Given the description of an element on the screen output the (x, y) to click on. 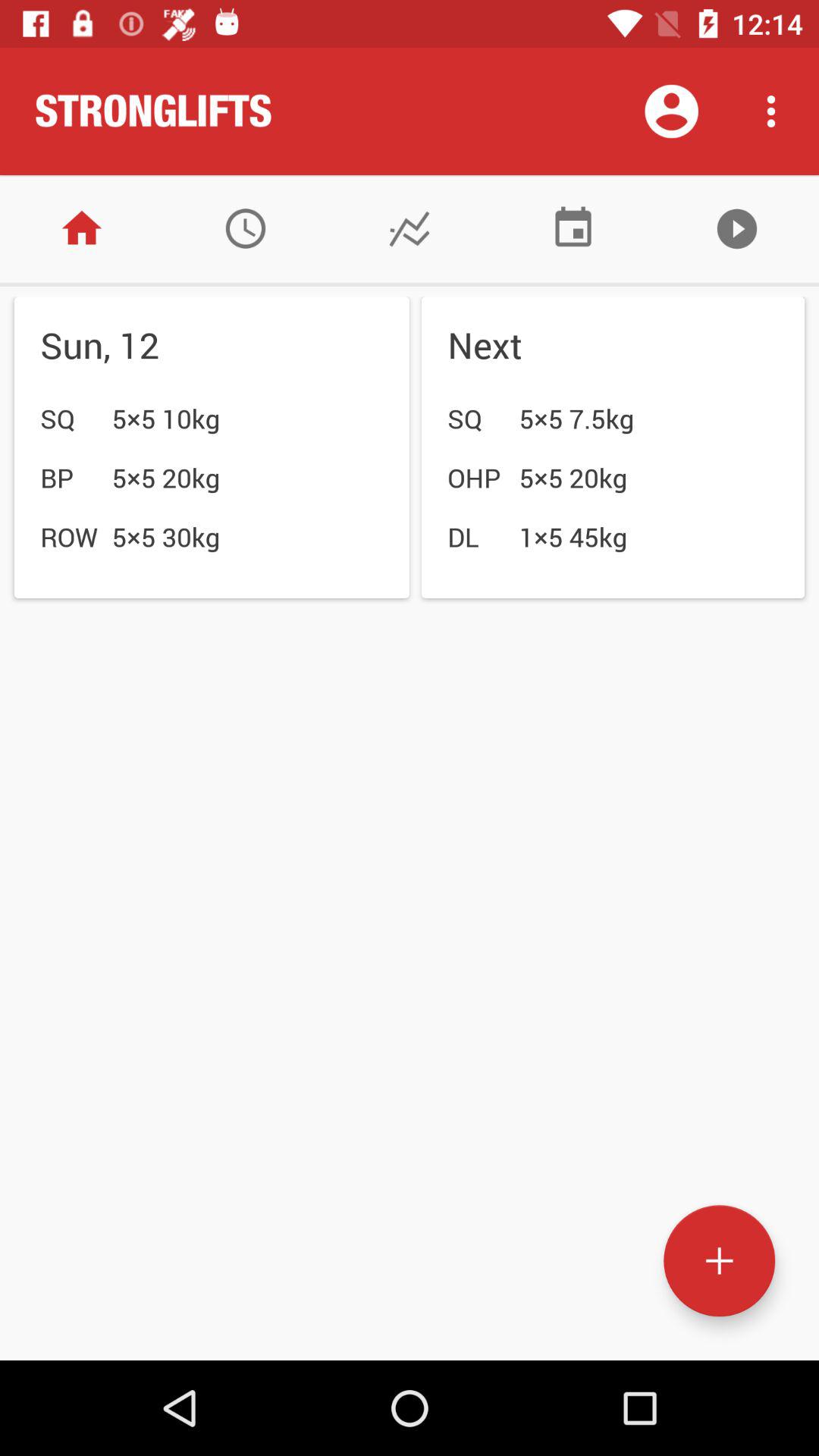
go home (81, 228)
